Given the description of an element on the screen output the (x, y) to click on. 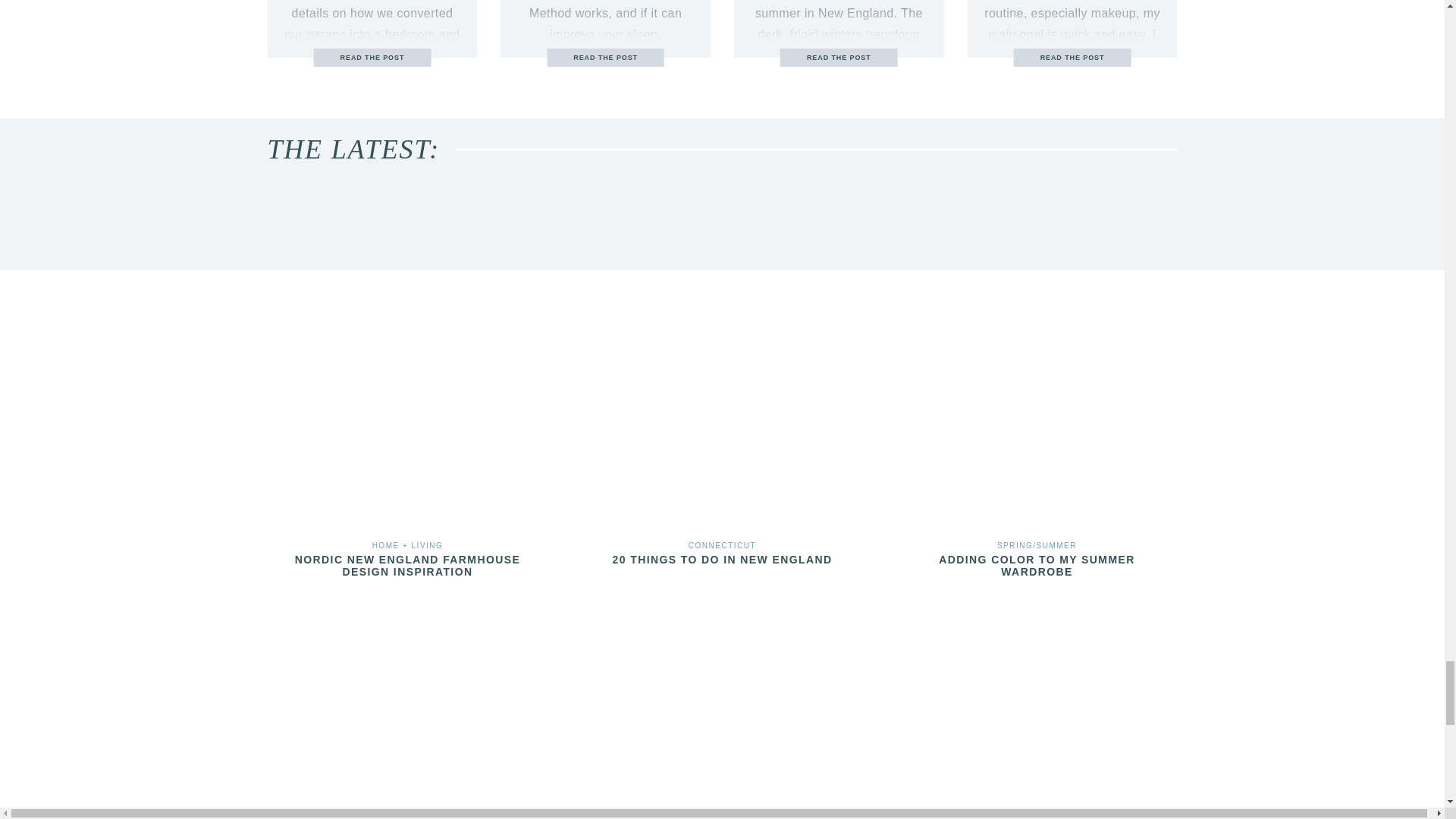
View all posts in Connecticut (721, 545)
